Given the description of an element on the screen output the (x, y) to click on. 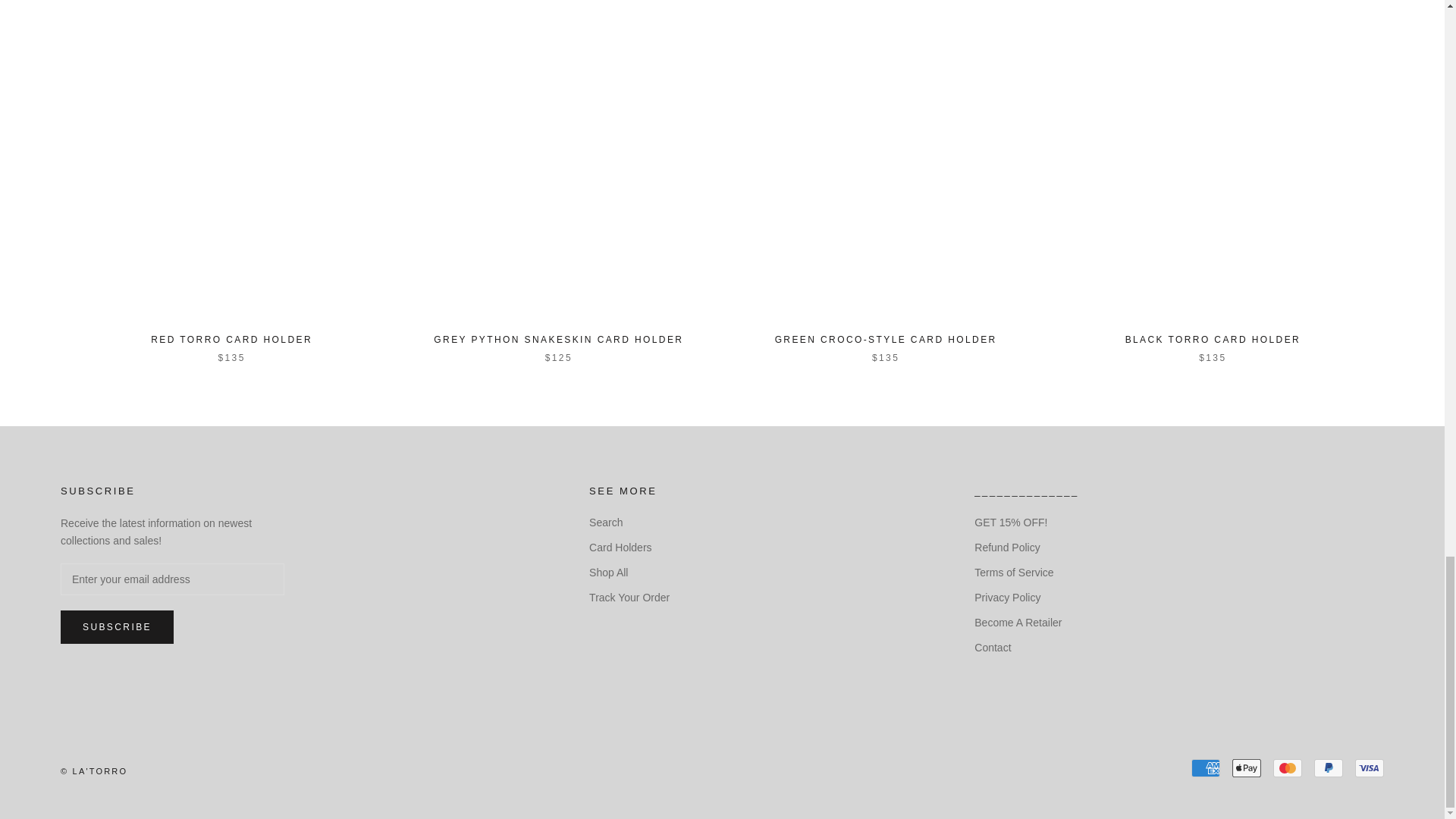
American Express (1205, 768)
RED TORRO CARD HOLDER (232, 339)
Visa (1369, 768)
Apple Pay (1245, 768)
PayPal (1328, 768)
GREY PYTHON SNAKESKIN CARD HOLDER (557, 339)
Mastercard (1286, 768)
